Given the description of an element on the screen output the (x, y) to click on. 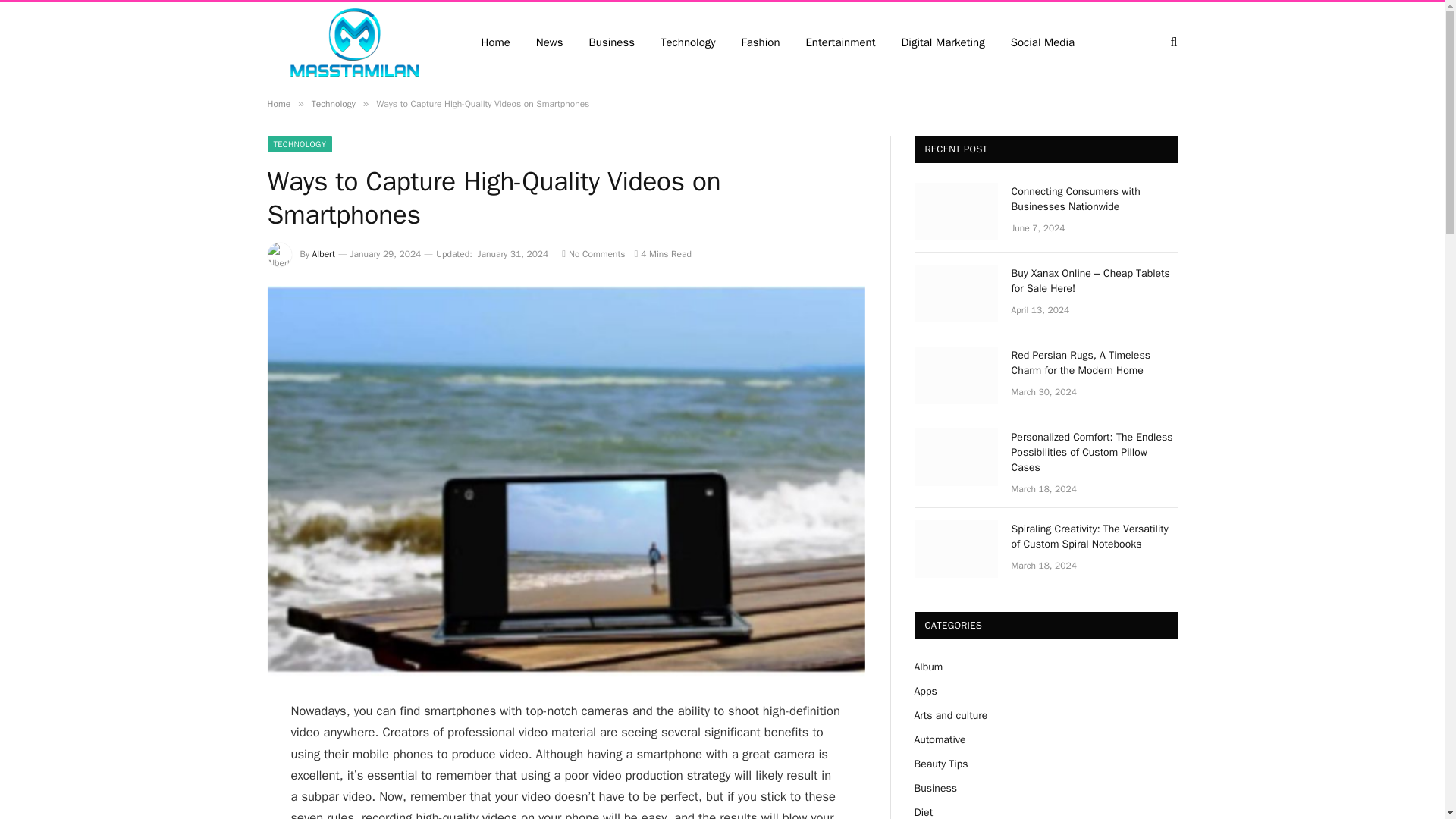
Home (277, 103)
Masstamilan (353, 42)
Posts by Albert (323, 254)
Technology (333, 103)
No Comments (593, 254)
Business (611, 42)
Technology (688, 42)
Digital Marketing (942, 42)
Entertainment (840, 42)
Albert (323, 254)
Social Media (1042, 42)
TECHNOLOGY (298, 143)
